Given the description of an element on the screen output the (x, y) to click on. 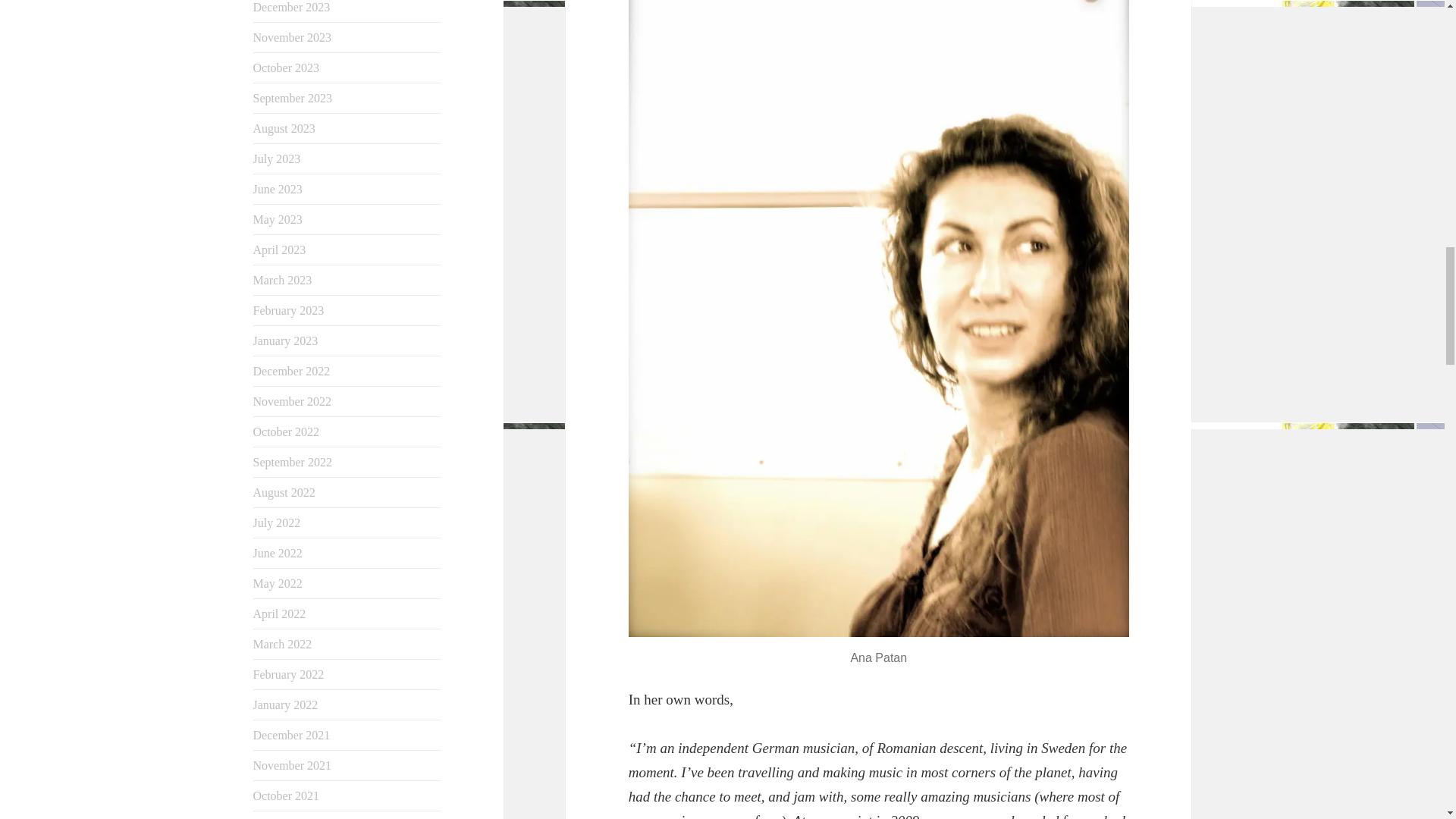
June 2023 (277, 188)
January 2023 (285, 340)
April 2023 (279, 249)
March 2023 (283, 279)
November 2023 (292, 37)
December 2022 (291, 370)
July 2023 (277, 158)
November 2022 (292, 400)
August 2023 (284, 128)
February 2023 (288, 309)
December 2023 (291, 6)
September 2023 (292, 97)
May 2023 (277, 219)
October 2023 (286, 67)
